Given the description of an element on the screen output the (x, y) to click on. 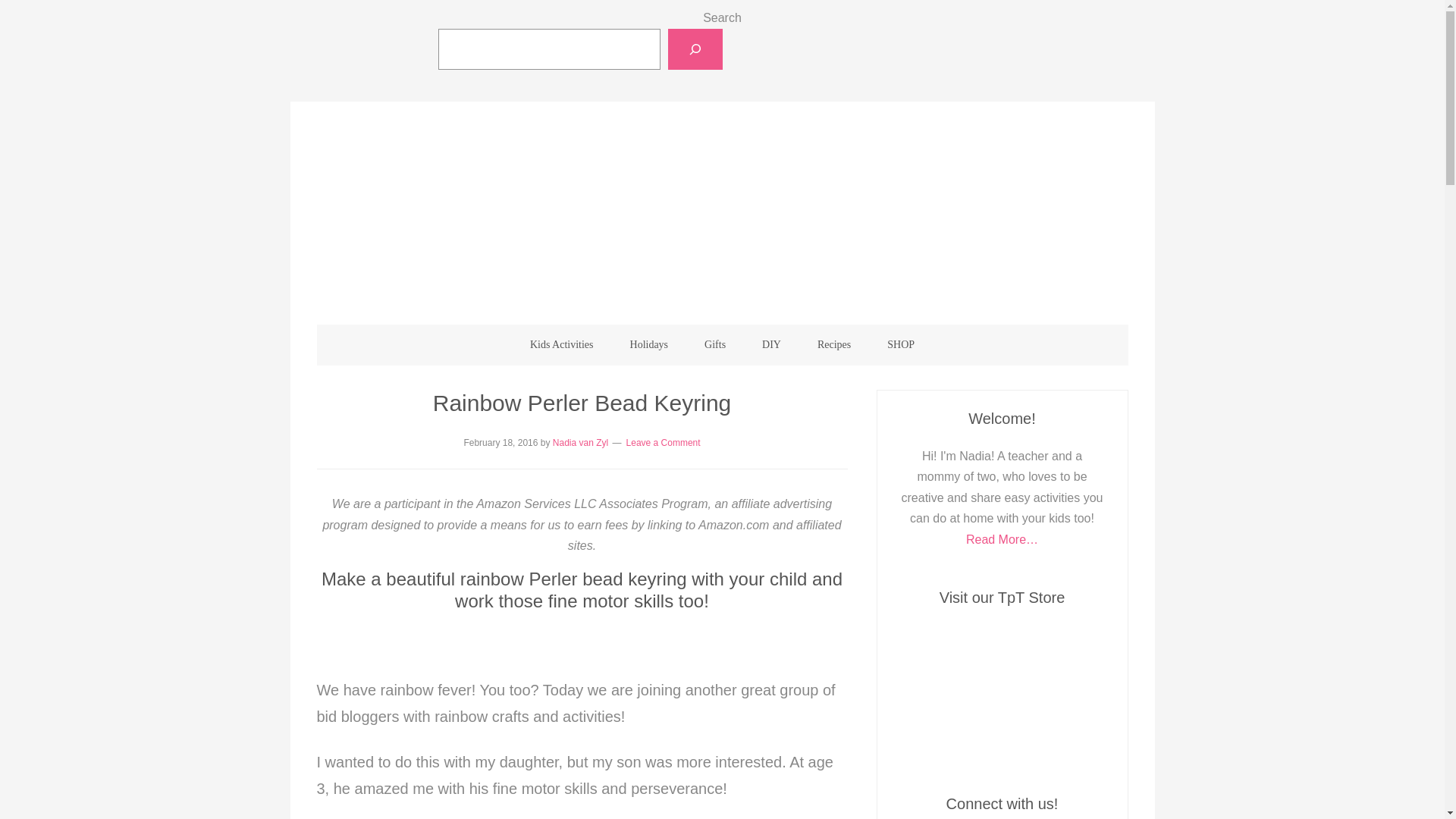
Nadia van Zyl (580, 442)
Holidays (649, 344)
Recipes (834, 344)
SHOP (901, 344)
Leave a Comment (663, 442)
Kids Activities (561, 344)
Gifts (714, 344)
DIY (771, 344)
